Given the description of an element on the screen output the (x, y) to click on. 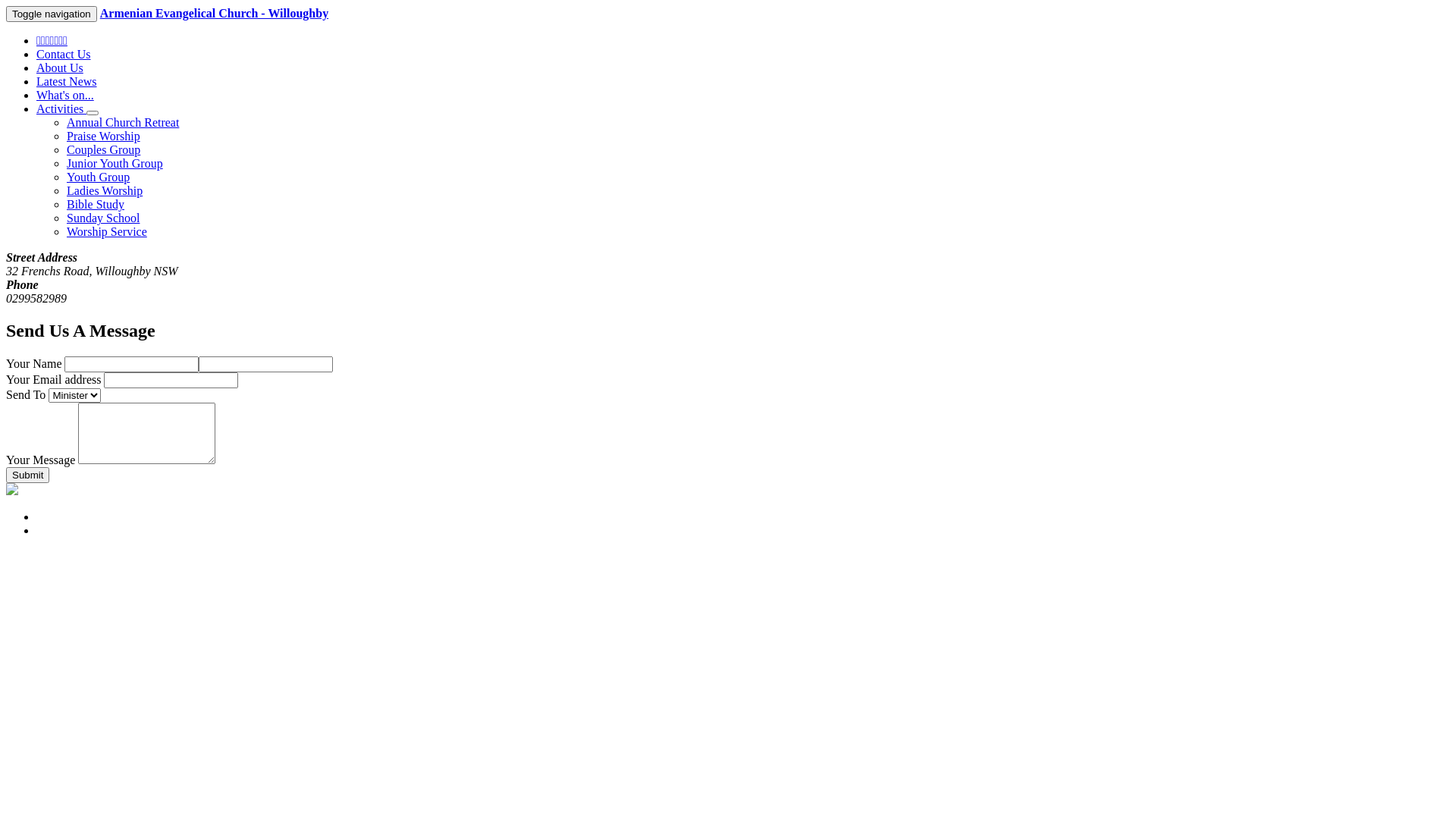
Activities Element type: text (61, 108)
About Us Element type: text (59, 67)
Bible Study Element type: text (95, 203)
Annual Church Retreat Element type: text (122, 122)
Sunday School Element type: text (102, 217)
Armenian Evangelical Church - Willoughby Element type: text (214, 12)
Contact Us Element type: text (63, 53)
Submit Element type: text (27, 475)
Worship Service Element type: text (106, 231)
Toggle navigation Element type: text (51, 13)
Youth Group Element type: text (97, 176)
Latest News Element type: text (66, 81)
What's on... Element type: text (65, 94)
Ladies Worship Element type: text (104, 190)
Junior Youth Group Element type: text (114, 162)
Praise Worship Element type: text (103, 135)
Couples Group Element type: text (103, 149)
